Given the description of an element on the screen output the (x, y) to click on. 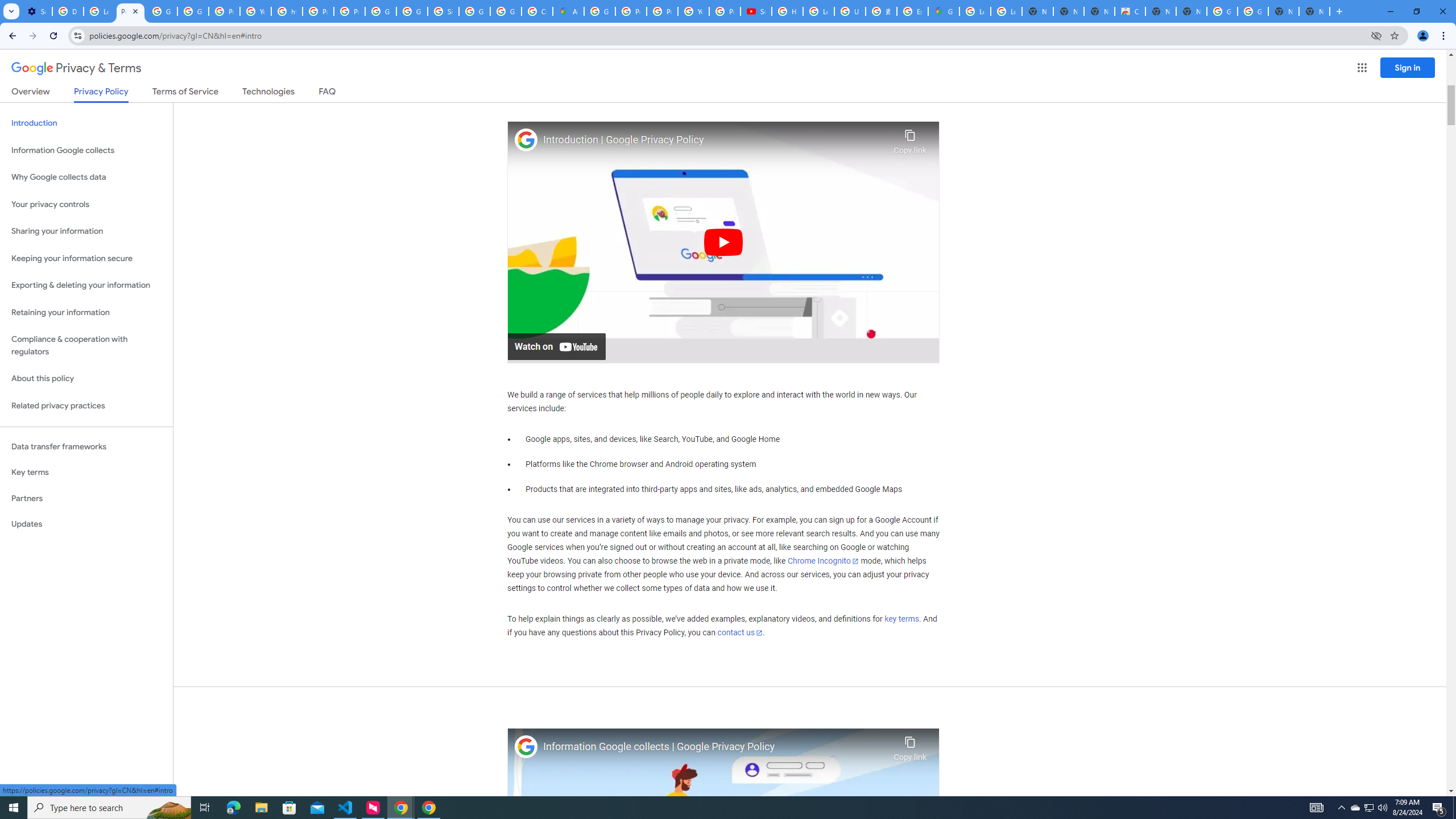
Search tabs (10, 11)
Privacy Help Center - Policies Help (318, 11)
Updates (86, 524)
Google Account Help (192, 11)
Back (10, 35)
key terms (900, 619)
Reload (52, 35)
Overview (30, 93)
Retaining your information (86, 312)
